Given the description of an element on the screen output the (x, y) to click on. 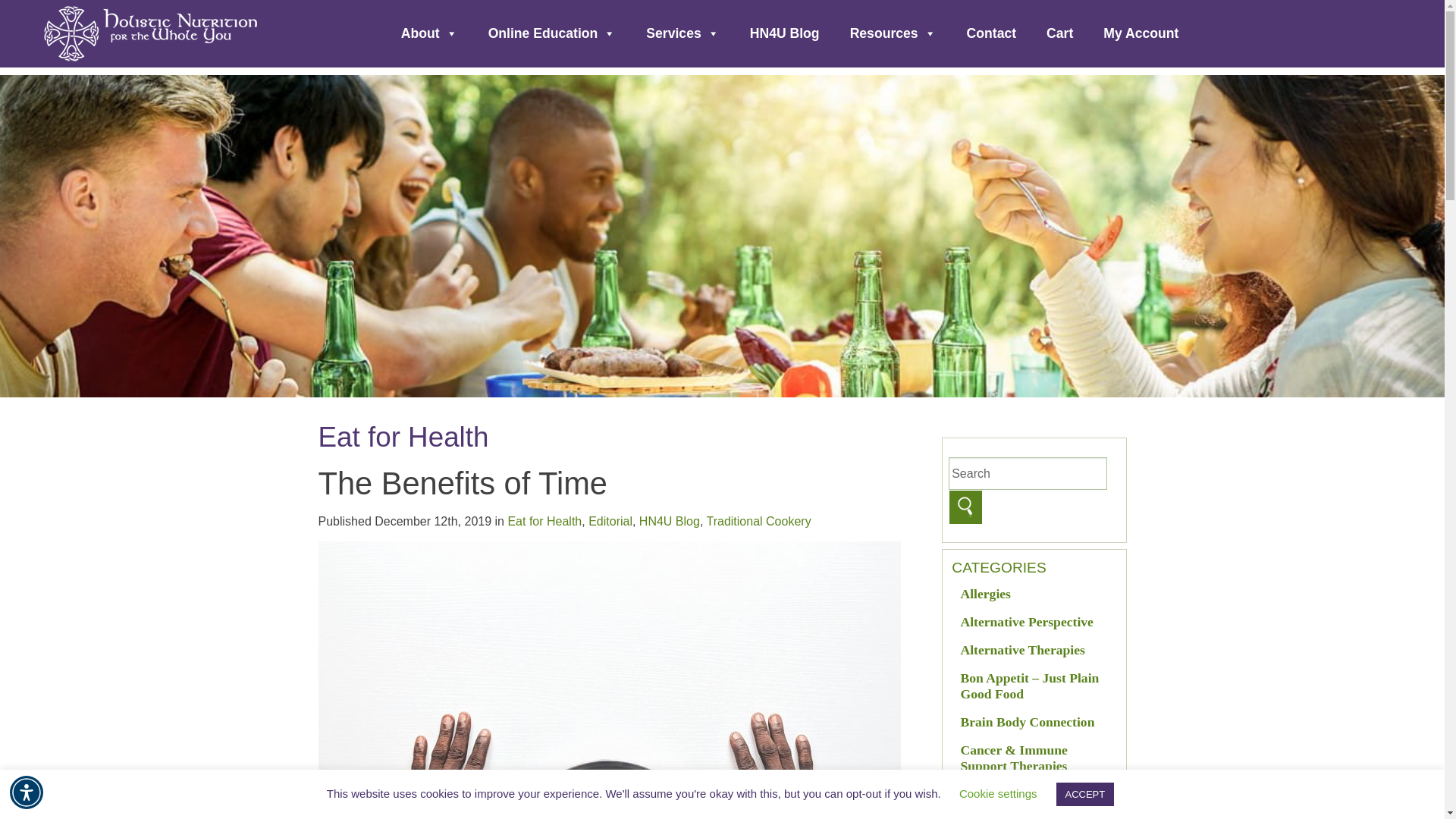
Resources (893, 33)
About (429, 33)
Contact (992, 33)
Eat for Health (543, 521)
Accessibility Menu (26, 792)
HN4U Blog (669, 521)
Services (681, 33)
Editorial (609, 521)
Traditional Cookery (758, 521)
HN4U Blog (784, 33)
